Given the description of an element on the screen output the (x, y) to click on. 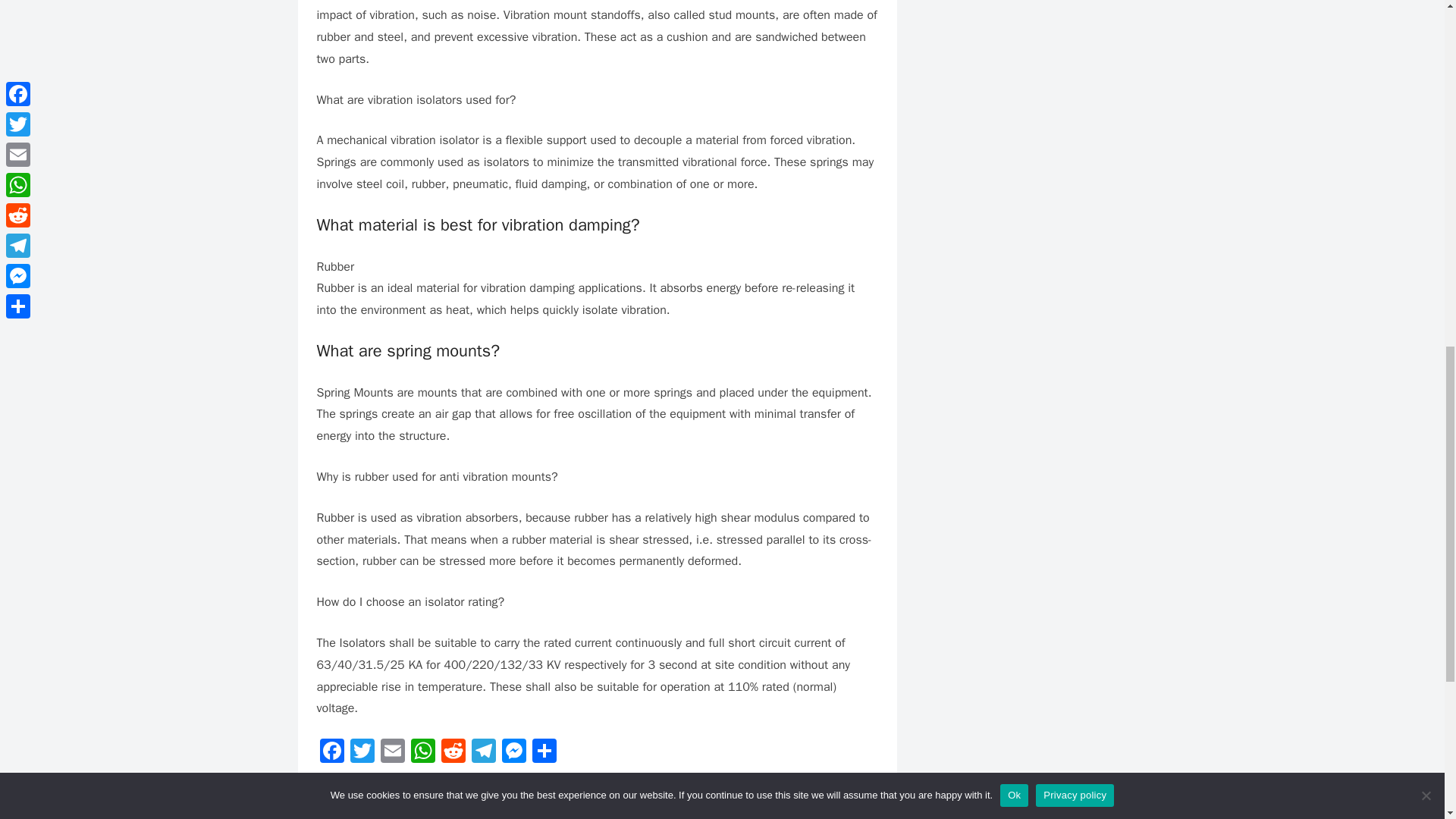
Email (392, 752)
Twitter (362, 752)
Alex (392, 813)
Messenger (514, 752)
Twitter (362, 752)
WhatsApp (422, 752)
Share (544, 752)
Messenger (514, 752)
Telegram (483, 752)
Reddit (453, 752)
Facebook (332, 752)
Email (392, 752)
WhatsApp (422, 752)
Telegram (483, 752)
Facebook (332, 752)
